Given the description of an element on the screen output the (x, y) to click on. 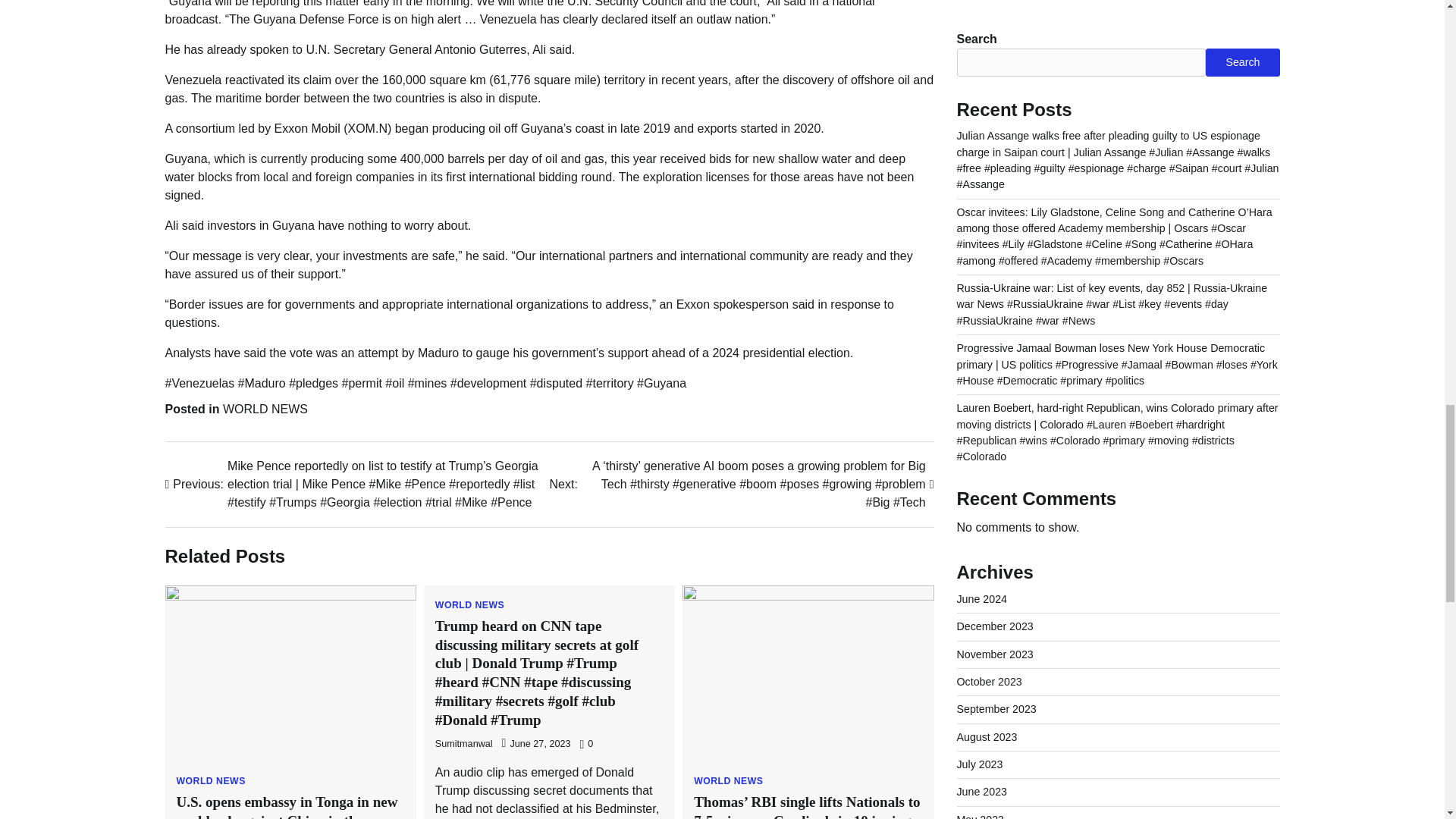
WORLD NEWS (210, 780)
WORLD NEWS (264, 408)
WORLD NEWS (728, 780)
Sumitmanwal (464, 743)
WORLD NEWS (469, 604)
